Given the description of an element on the screen output the (x, y) to click on. 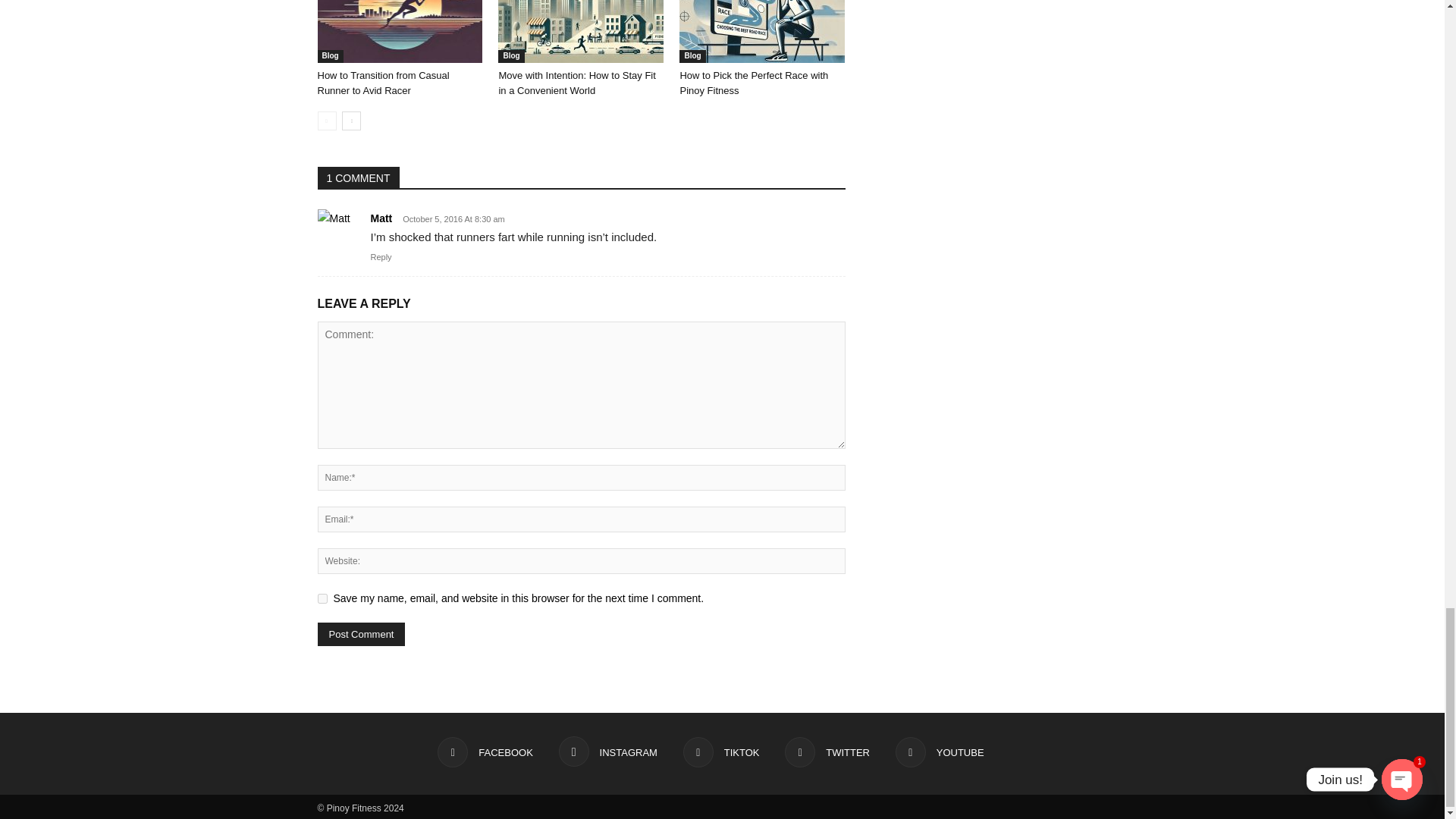
yes (321, 598)
Post Comment (360, 634)
